Given the description of an element on the screen output the (x, y) to click on. 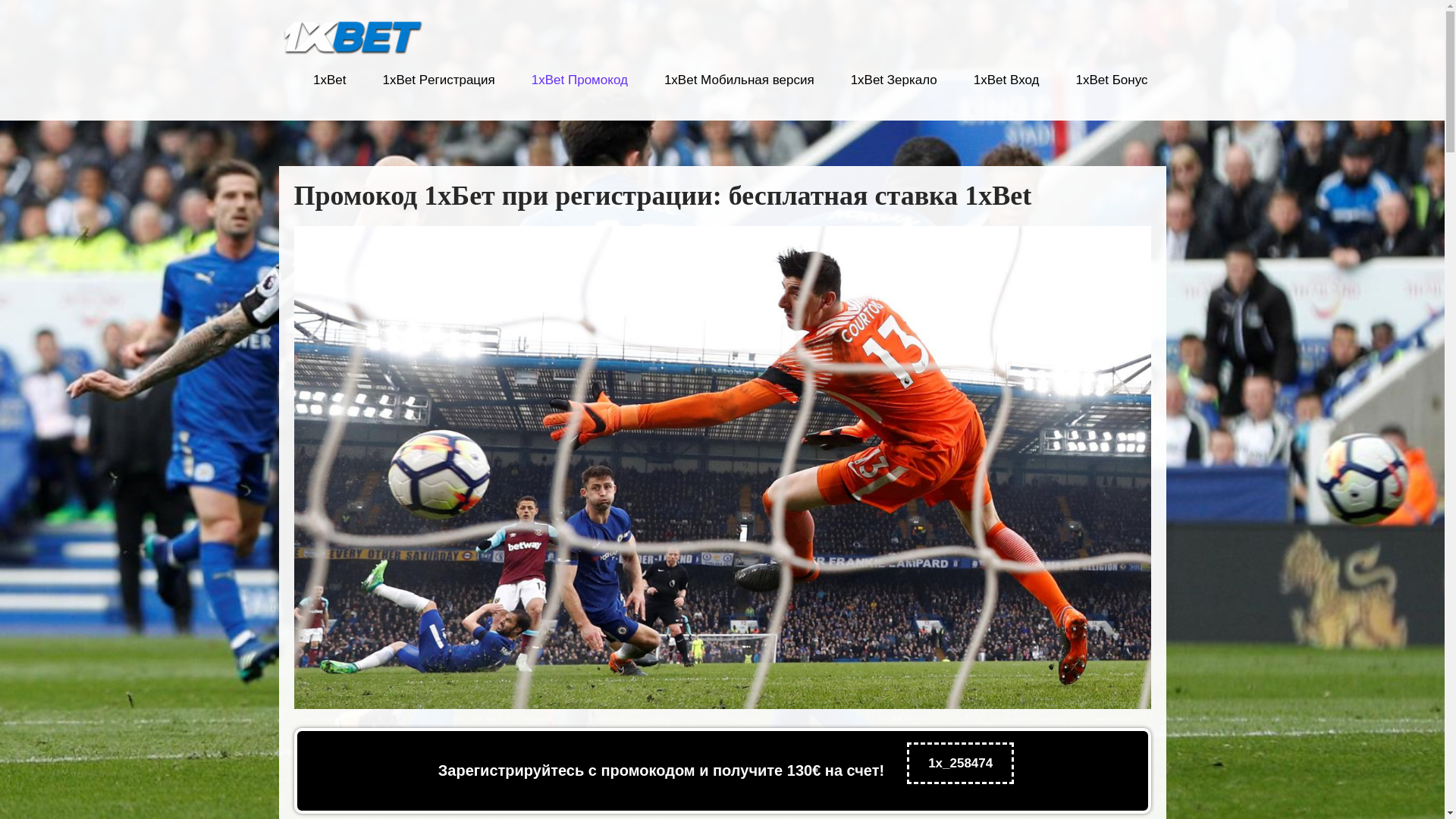
1xBet Element type: text (329, 88)
